Given the description of an element on the screen output the (x, y) to click on. 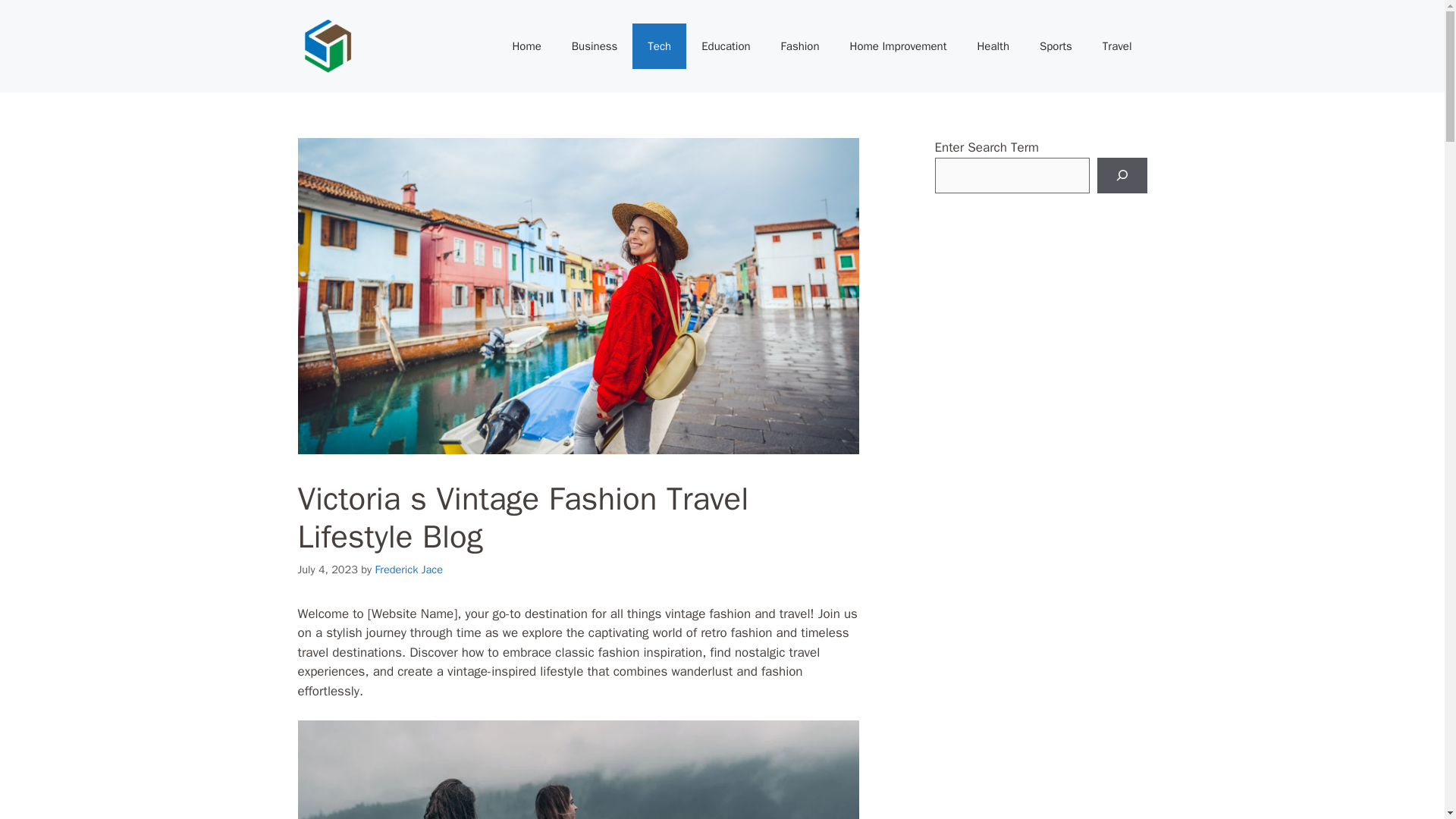
Travel (1117, 45)
Home Improvement (898, 45)
Frederick Jace (408, 569)
Education (725, 45)
Home (526, 45)
Sports (1056, 45)
Health (992, 45)
View all posts by Frederick Jace (408, 569)
Tech (658, 45)
Fashion (799, 45)
